Given the description of an element on the screen output the (x, y) to click on. 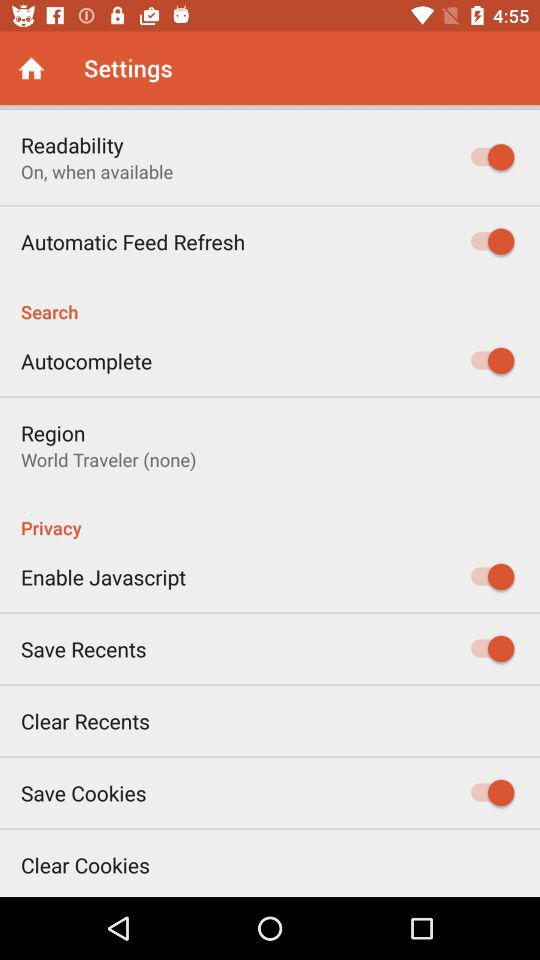
launch the icon above the save cookies item (85, 720)
